Given the description of an element on the screen output the (x, y) to click on. 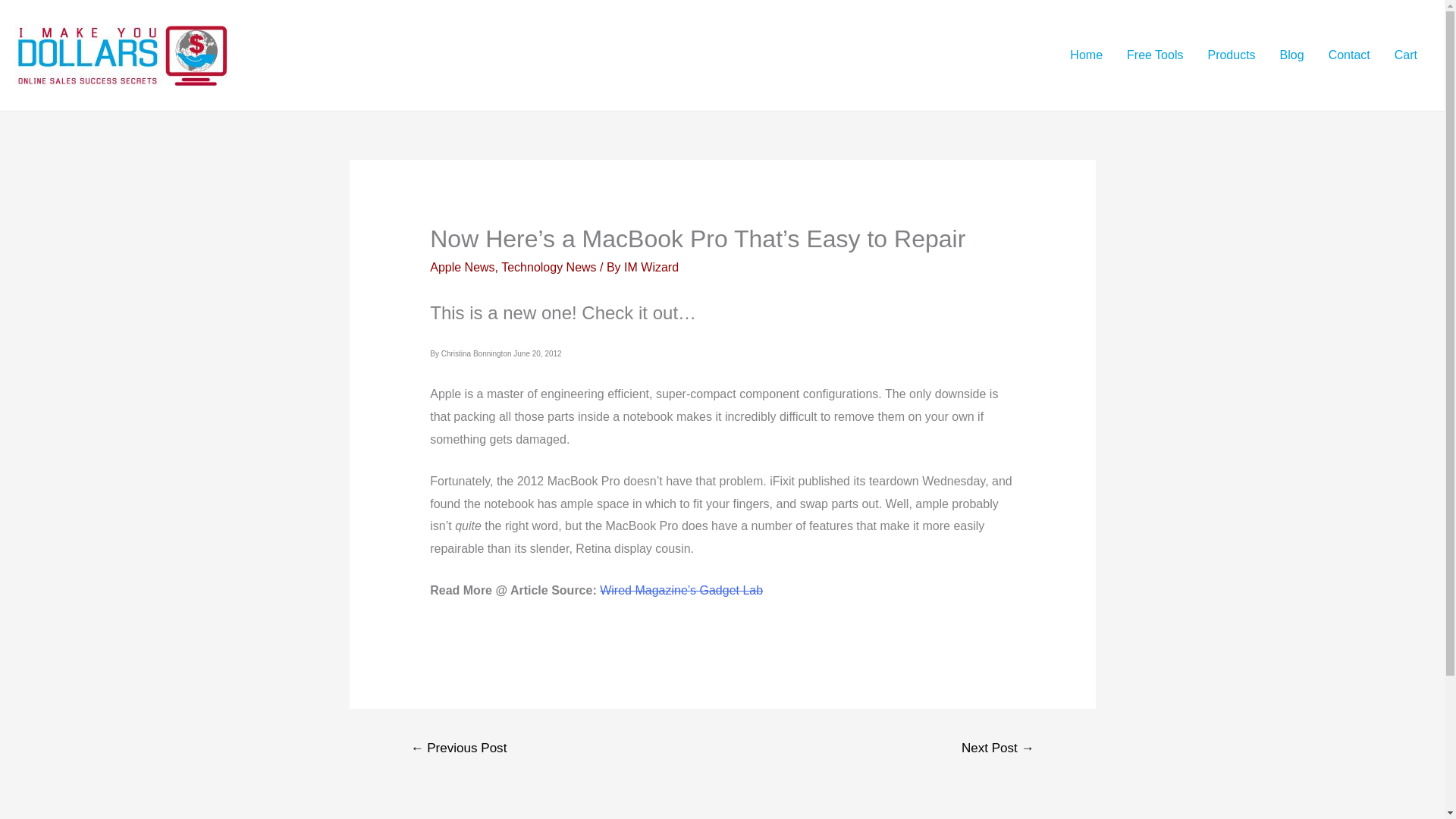
Products (1230, 55)
Contact (1348, 55)
View all posts by IM Wizard (651, 267)
Apple News (462, 267)
Cart (1405, 55)
Free Tools (1155, 55)
Home (1086, 55)
IM Wizard (651, 267)
Technology News (547, 267)
Blog (1292, 55)
